Given the description of an element on the screen output the (x, y) to click on. 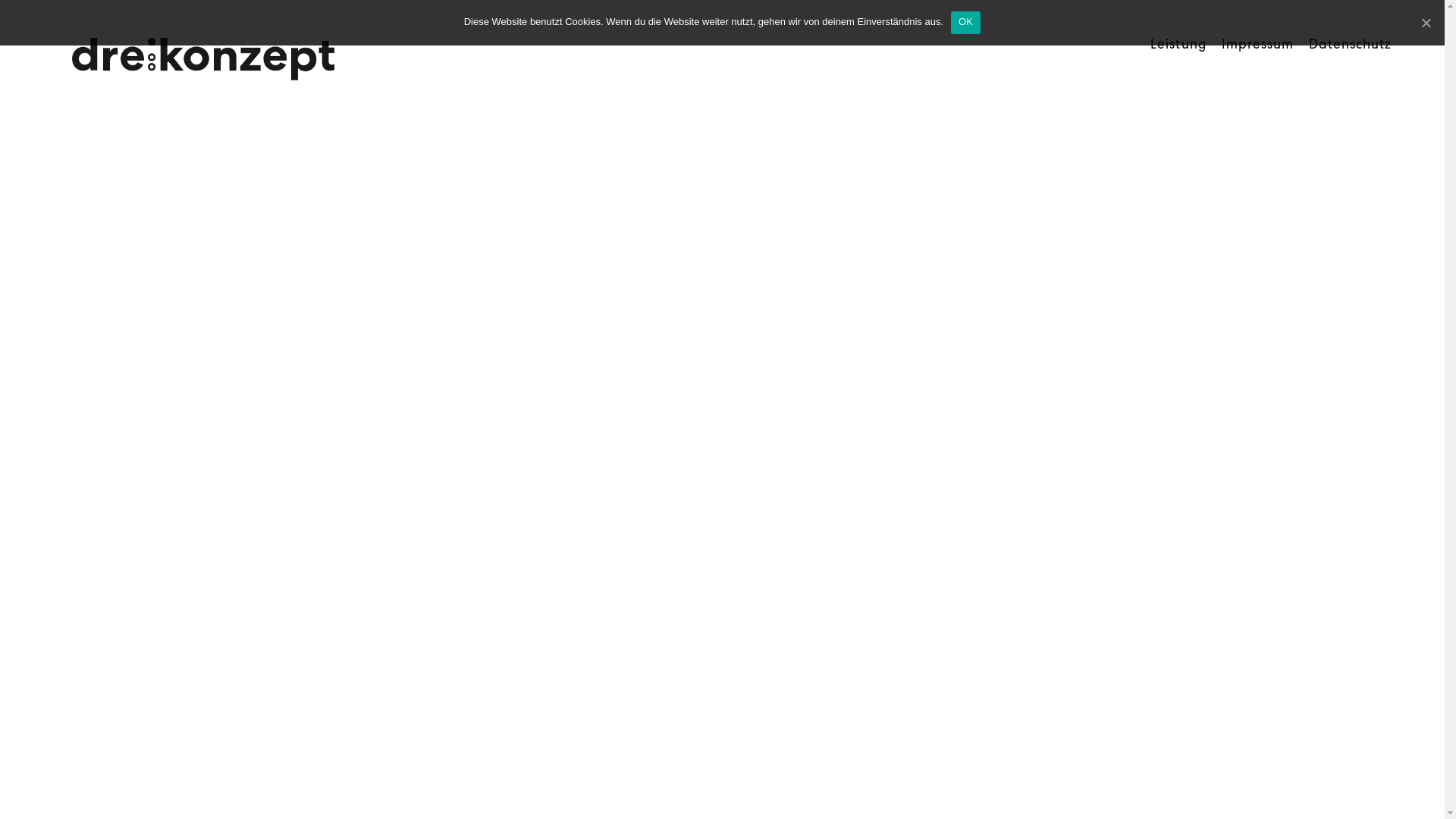
Datenschutz Element type: text (1349, 43)
Impressum Element type: text (1257, 43)
Leistung Element type: text (1177, 43)
OK Element type: text (965, 22)
